Given the description of an element on the screen output the (x, y) to click on. 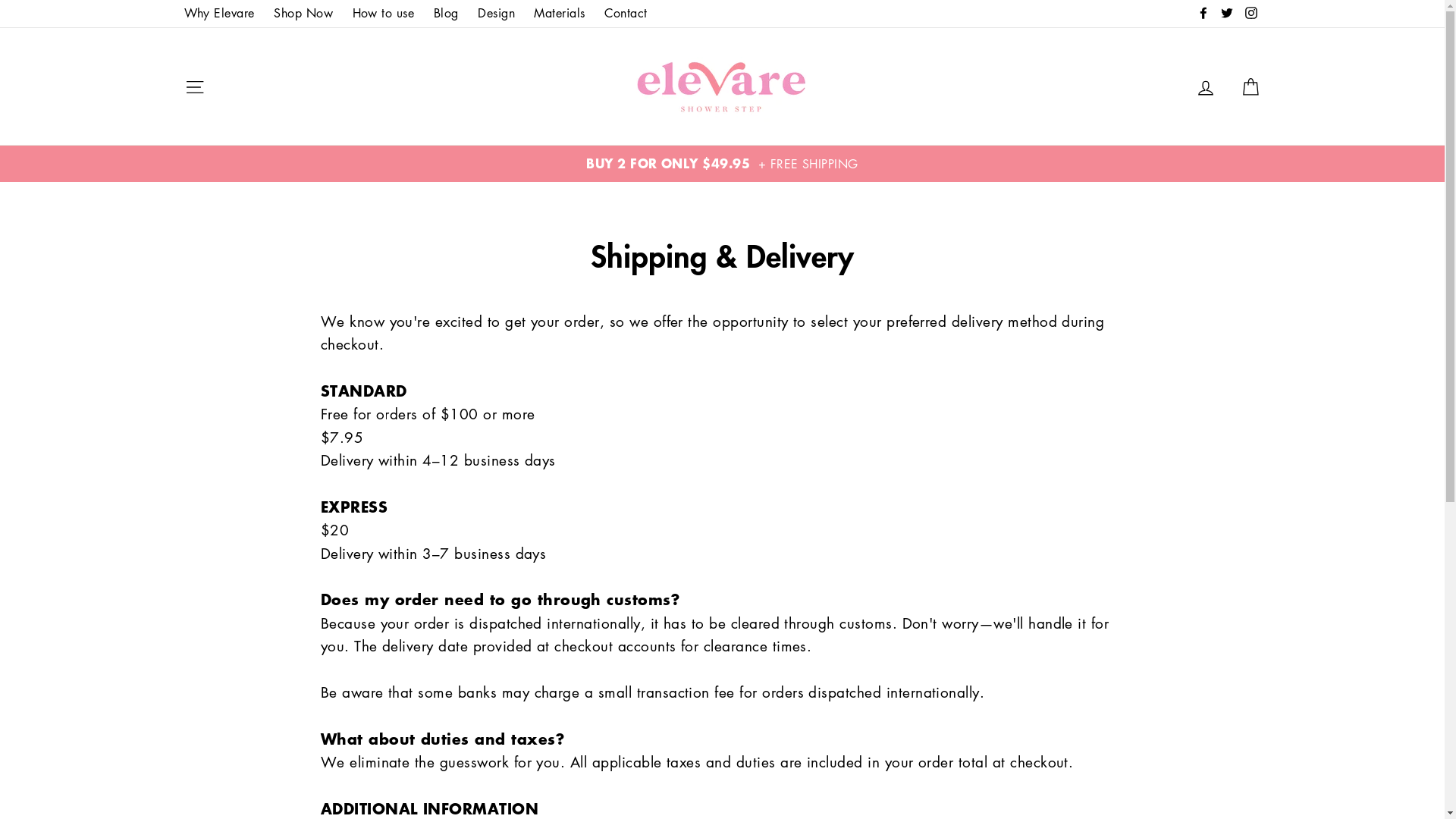
How to use Element type: text (383, 13)
Shop Now Element type: text (303, 13)
Instagram Element type: text (1250, 13)
Blog Element type: text (446, 13)
Contact Element type: text (625, 13)
Site navigation Element type: text (193, 86)
Materials Element type: text (559, 13)
Skip to content Element type: text (0, 0)
Cart Element type: text (1249, 86)
Log in Element type: text (1205, 86)
Twitter Element type: text (1226, 13)
Facebook Element type: text (1203, 13)
Why Elevare Element type: text (218, 13)
Design Element type: text (496, 13)
